Given the description of an element on the screen output the (x, y) to click on. 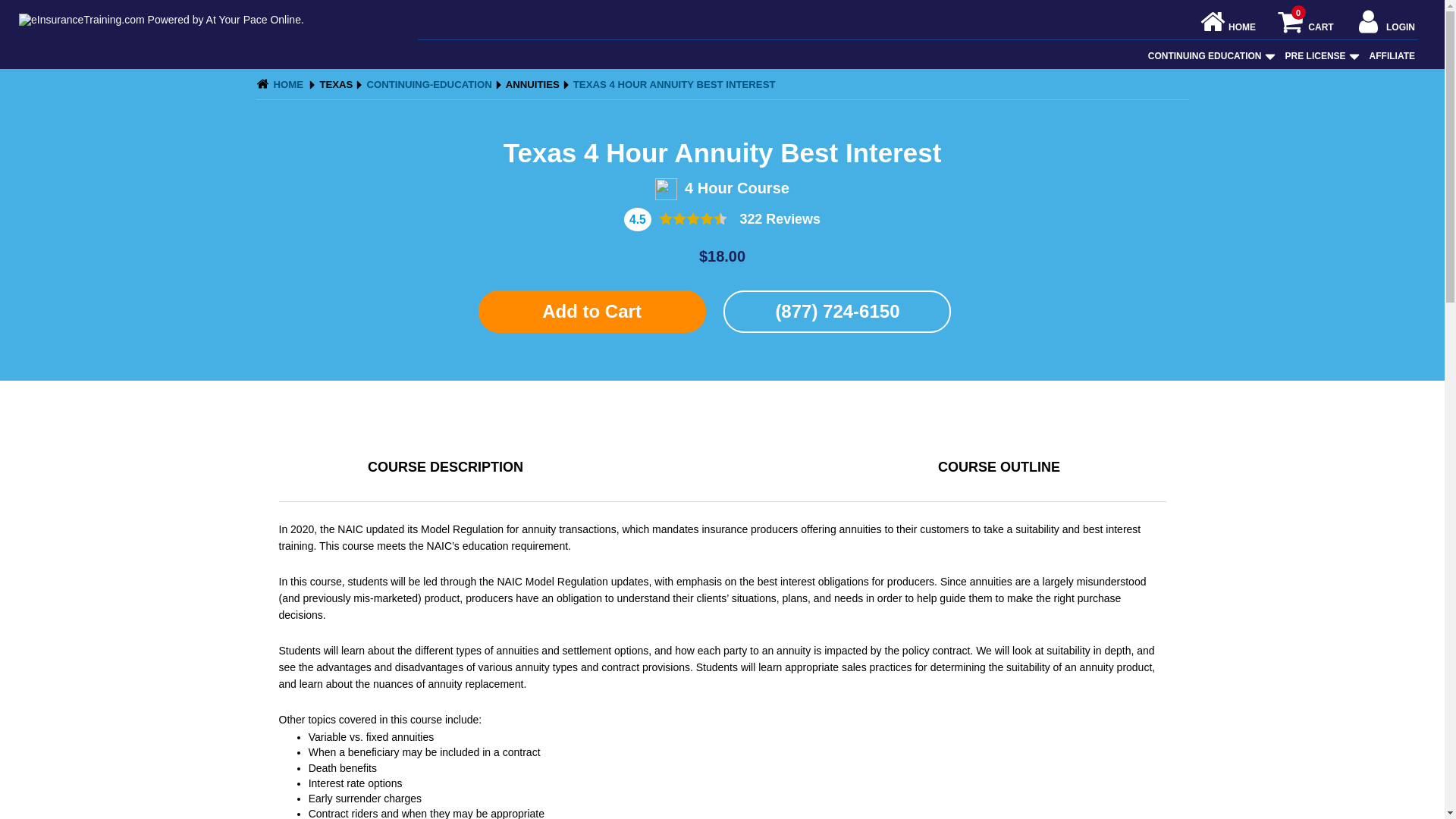
HOME (1227, 27)
LOGIN (1304, 27)
CONTINUING EDUCATION (1384, 27)
